Given the description of an element on the screen output the (x, y) to click on. 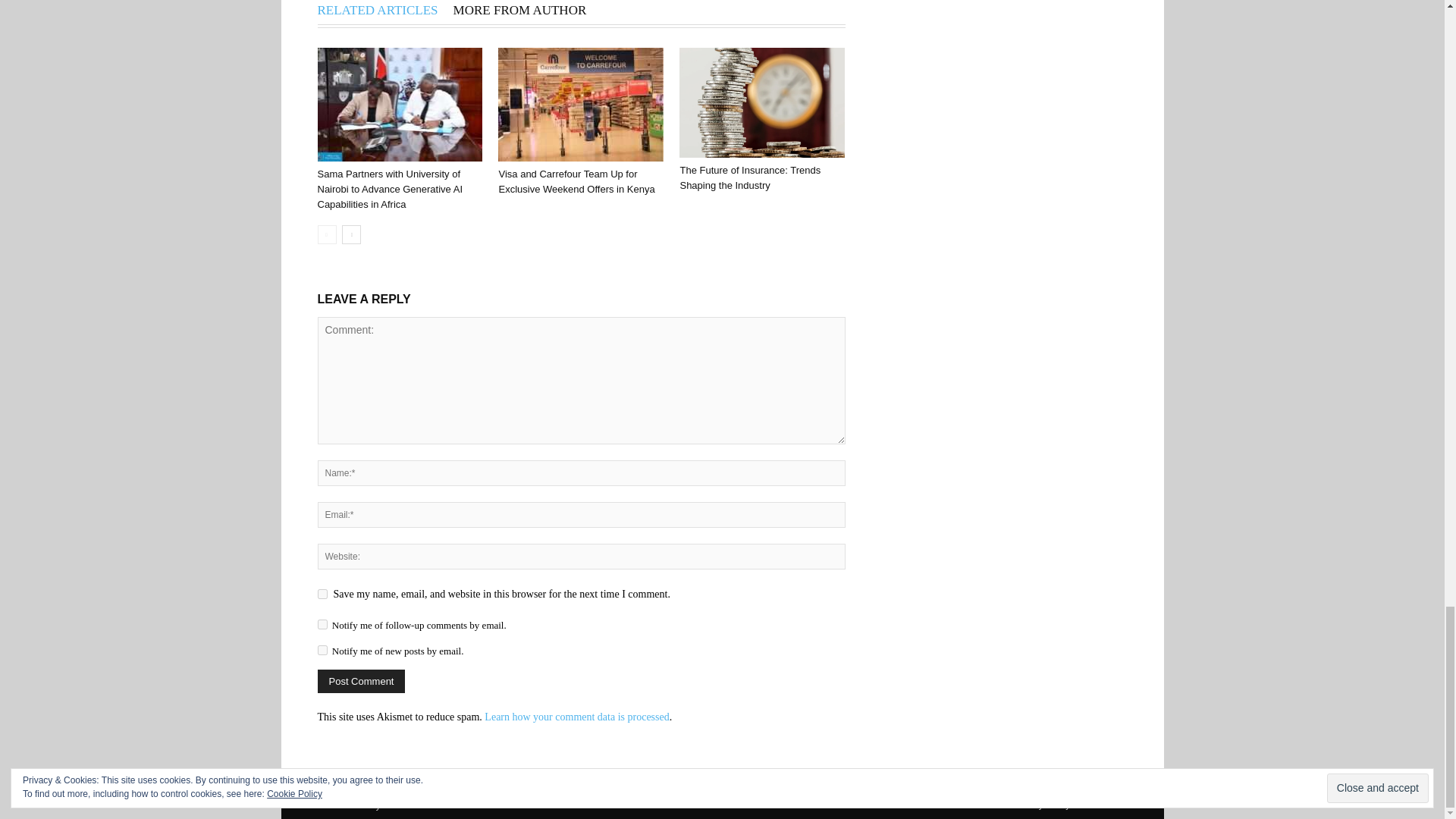
Post Comment (360, 680)
subscribe (321, 624)
yes (321, 593)
subscribe (321, 650)
